Given the description of an element on the screen output the (x, y) to click on. 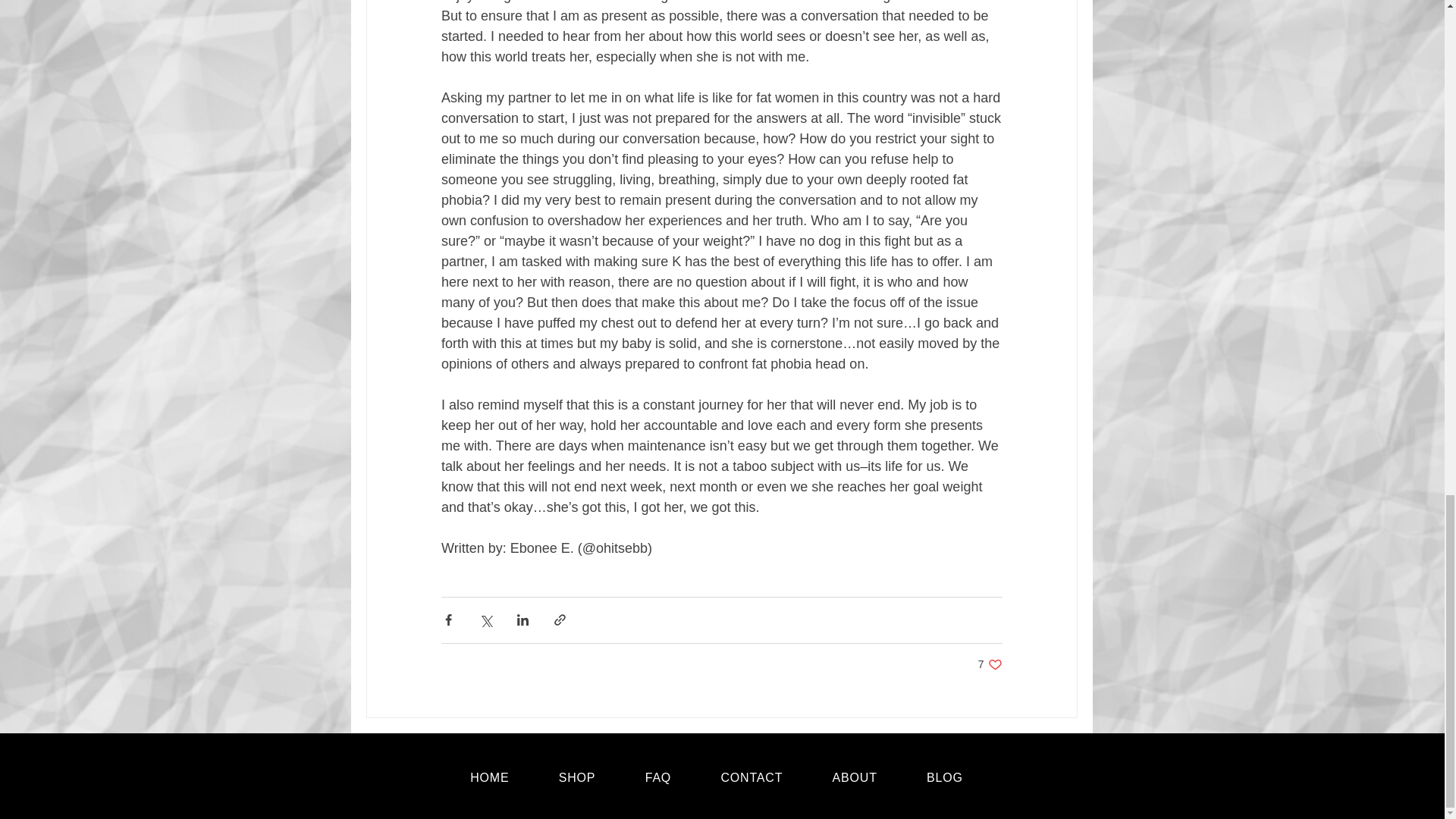
SHOP (990, 664)
BLOG (577, 777)
FAQ (944, 777)
HOME (658, 777)
ABOUT (489, 777)
CONTACT (854, 777)
